Given the description of an element on the screen output the (x, y) to click on. 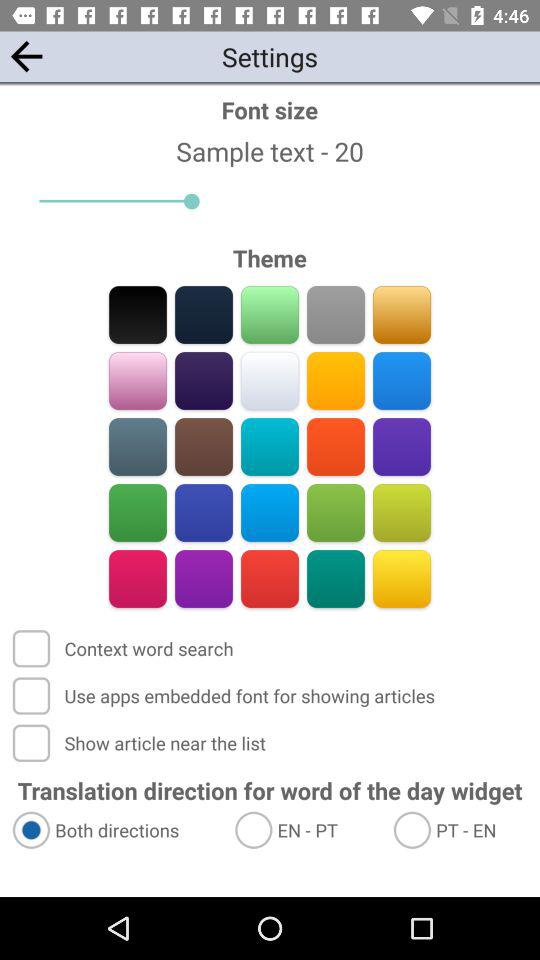
change theme (335, 446)
